Given the description of an element on the screen output the (x, y) to click on. 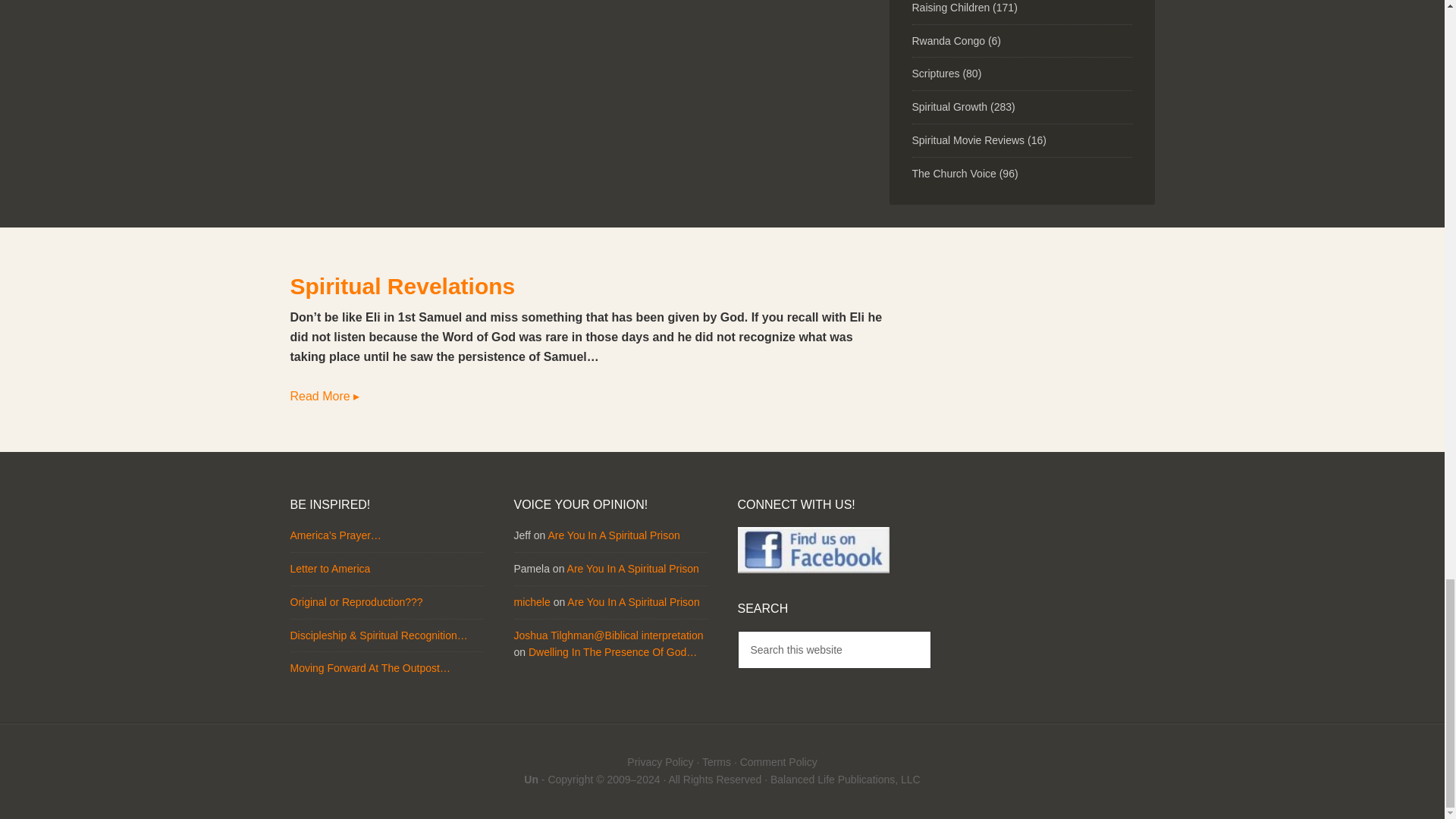
Daily Bible Scriptures (935, 73)
